Given the description of an element on the screen output the (x, y) to click on. 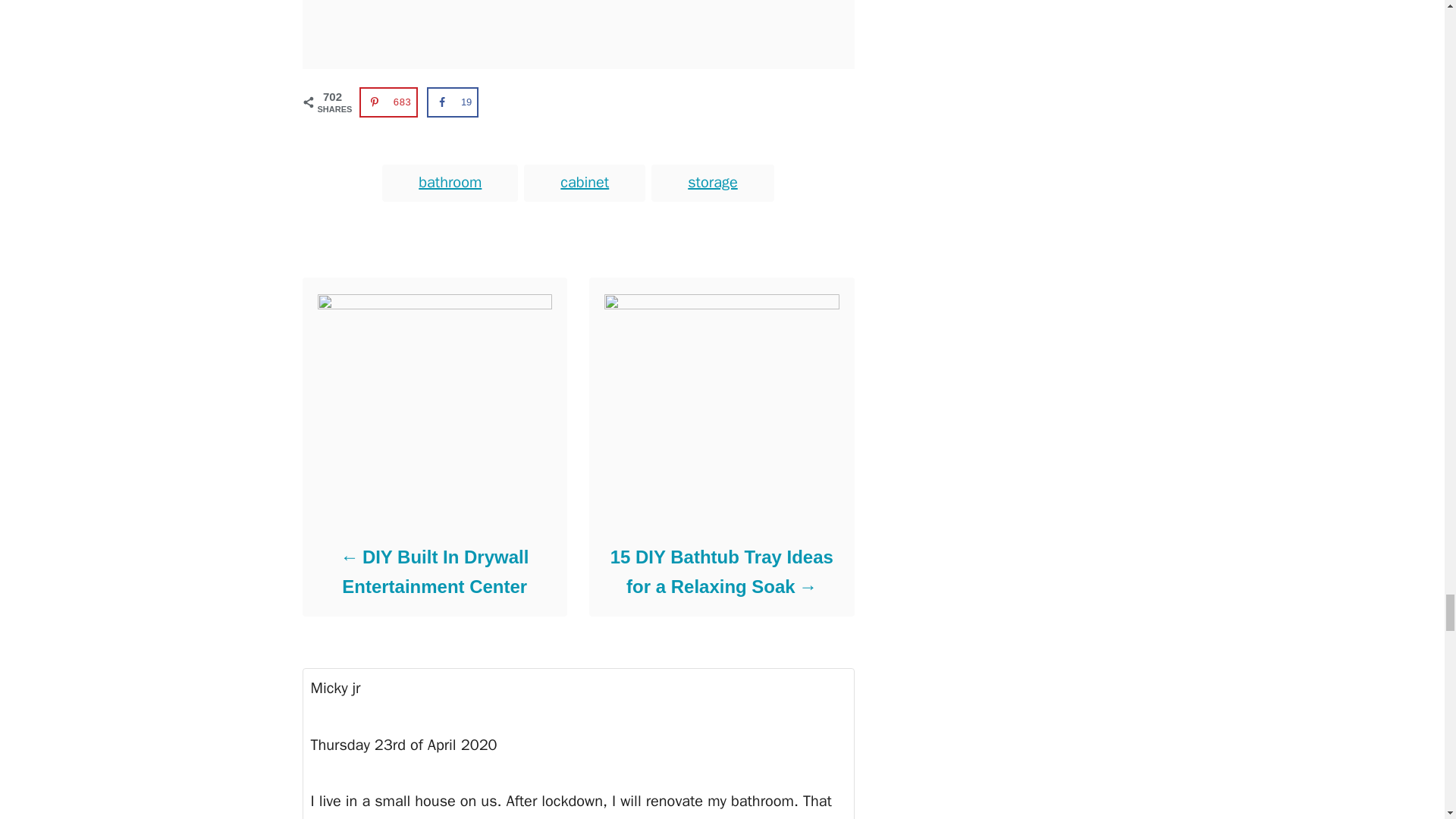
Share on Facebook (452, 101)
Save to Pinterest (389, 101)
